Given the description of an element on the screen output the (x, y) to click on. 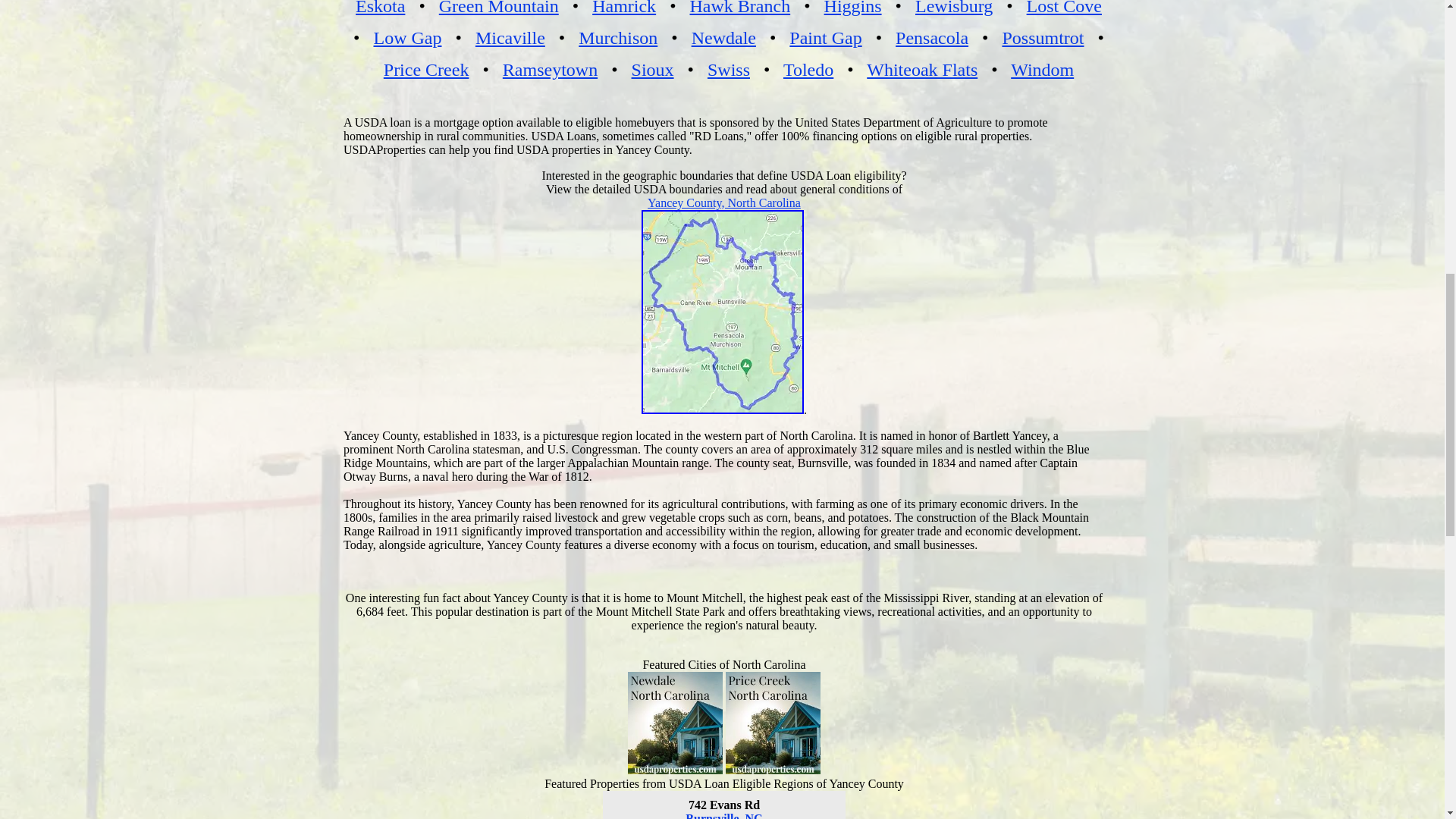
Hawk Branch (740, 7)
Eskota (379, 7)
Newdale (723, 37)
Hamrick (624, 7)
Paint Gap (825, 37)
Lost Cove (1064, 7)
Low Gap (406, 37)
Pensacola (931, 37)
Green Mountain (499, 7)
Lewisburg (953, 7)
Possumtrot (1042, 37)
Murchison (618, 37)
Higgins (853, 7)
Micaville (510, 37)
